Given the description of an element on the screen output the (x, y) to click on. 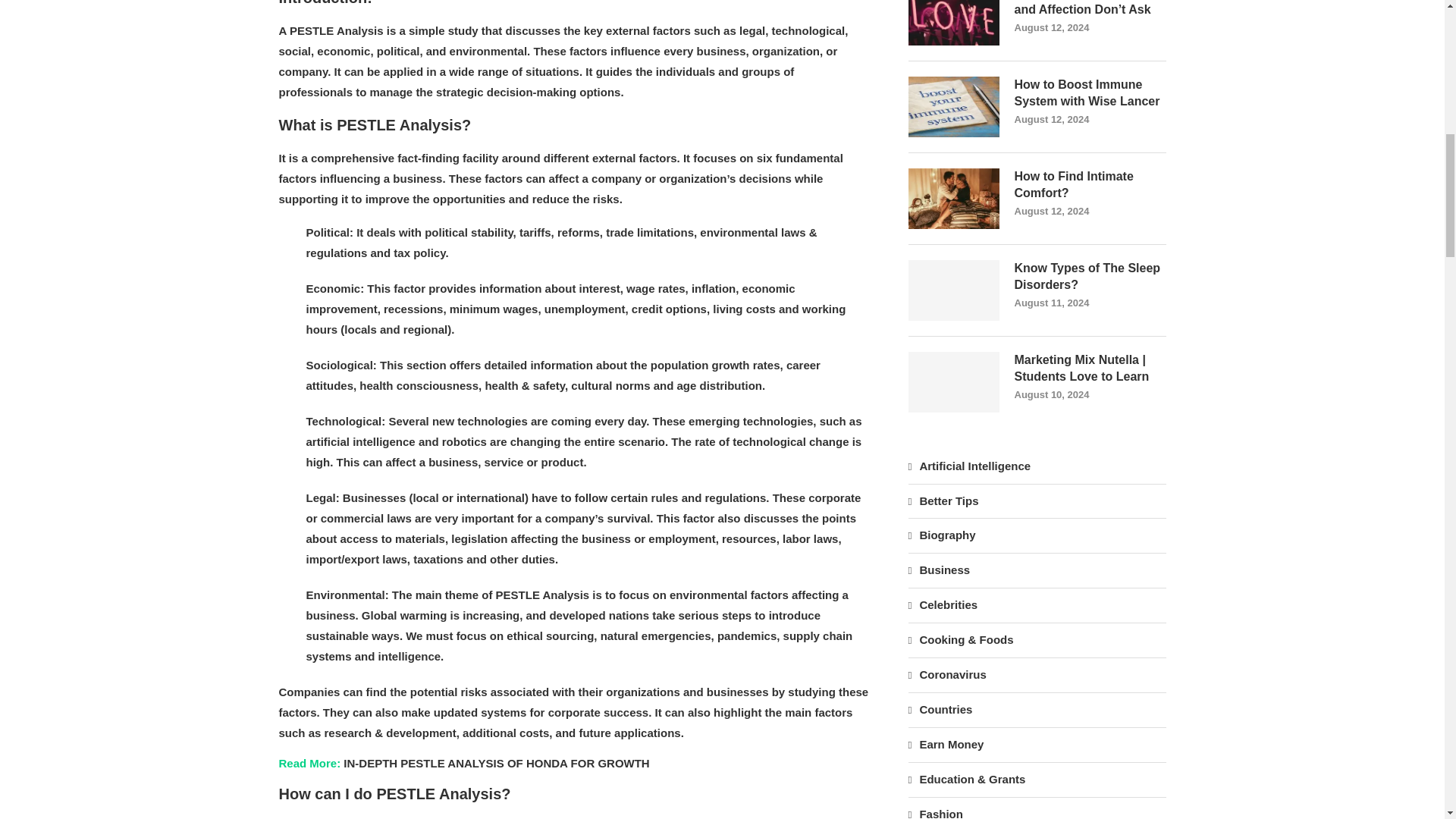
Know Types of The Sleep Disorders? (1090, 277)
How to Boost Immune System with Wise Lancer (953, 106)
Know Types of The Sleep Disorders? (953, 290)
How to Find Intimate Comfort? (953, 198)
How to Boost Immune System with Wise Lancer (1090, 93)
How to Find Intimate Comfort? (1090, 185)
IN-DEPTH PESTLE ANALYSIS OF HONDA FOR GROWTH (496, 762)
